Given the description of an element on the screen output the (x, y) to click on. 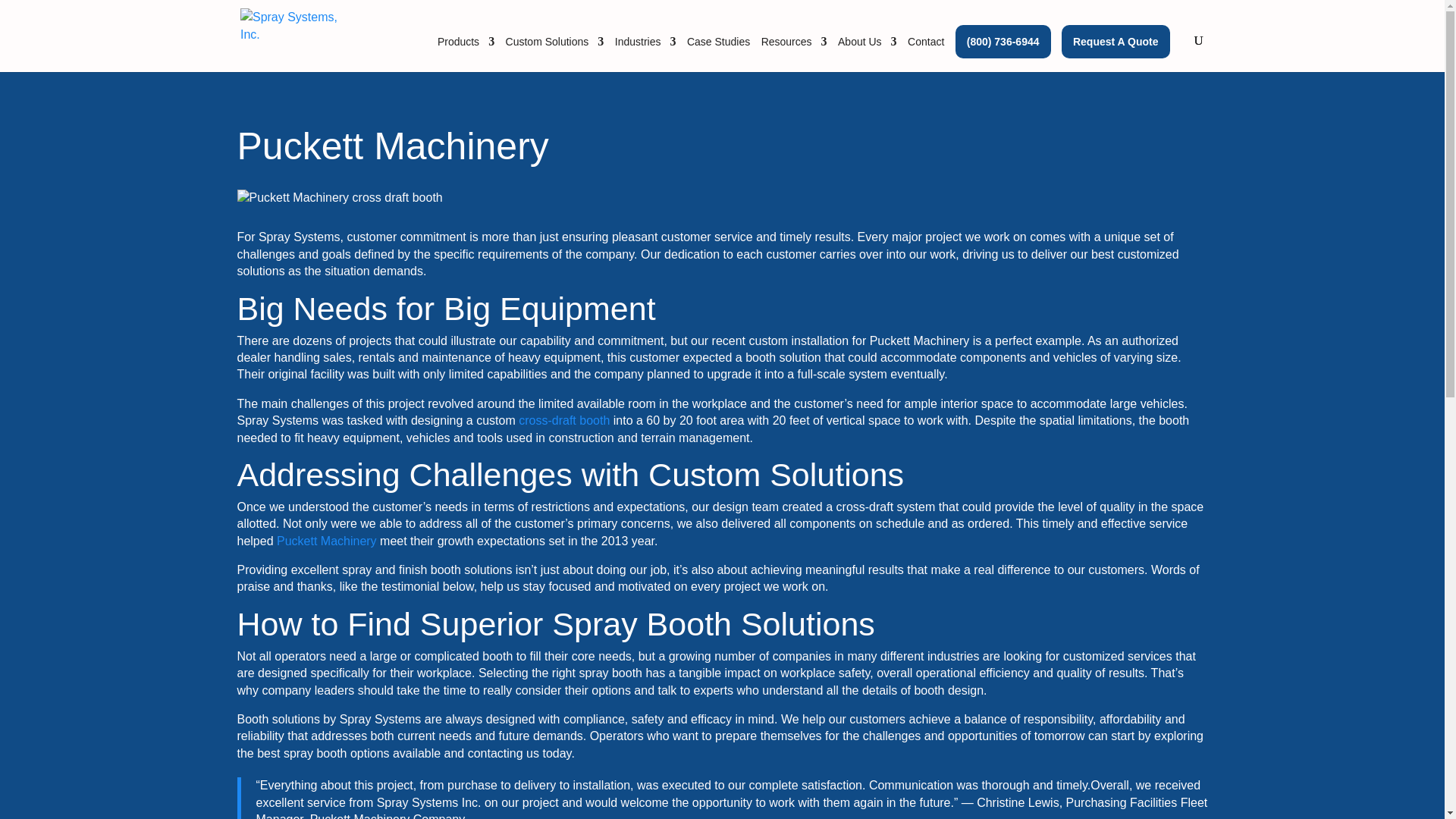
Products (466, 54)
Resources (794, 54)
Custom Solutions (554, 54)
Case Studies (718, 54)
Industries (645, 54)
